Given the description of an element on the screen output the (x, y) to click on. 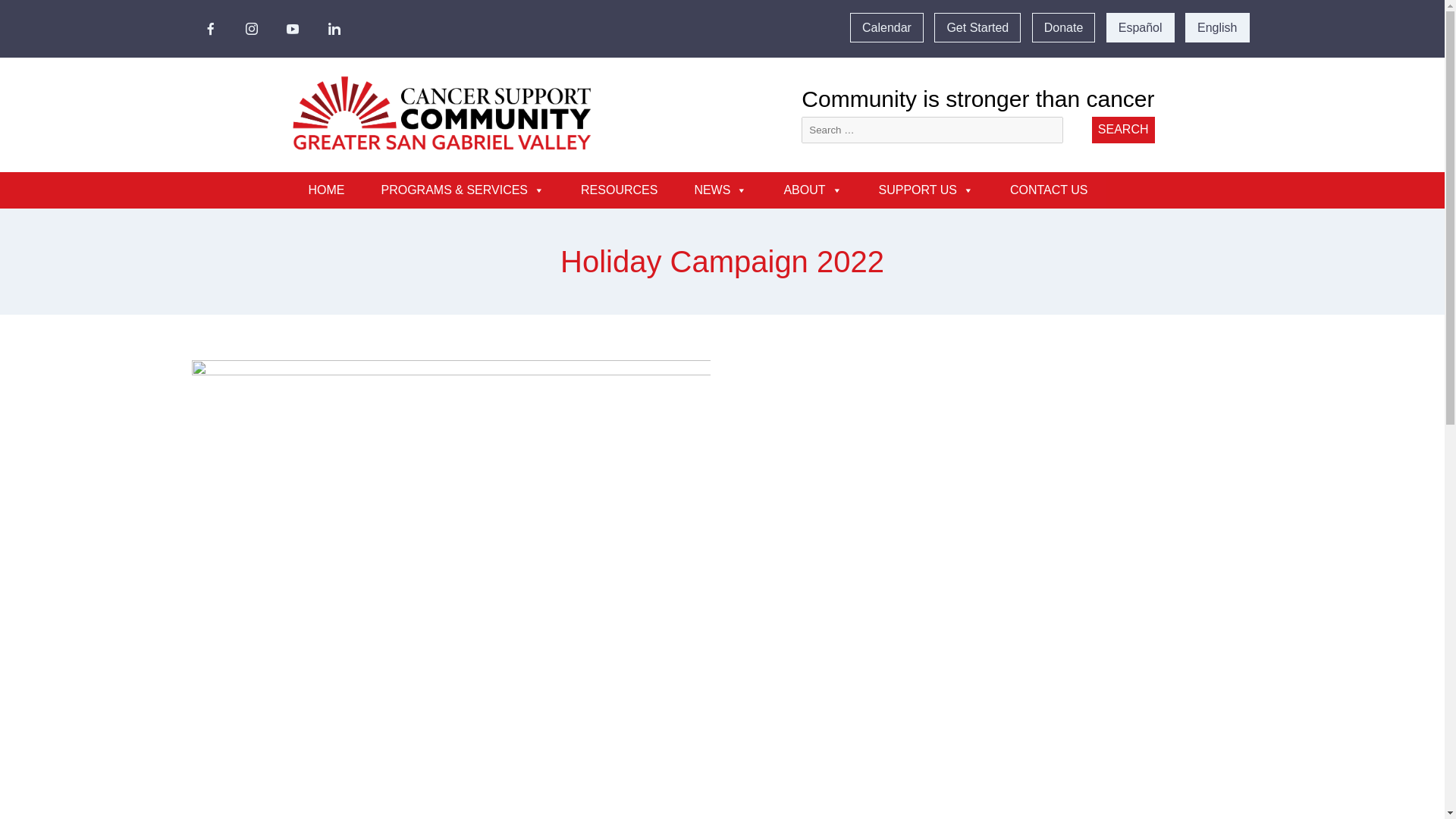
Calendar (886, 27)
Get Started (977, 27)
Search (1123, 130)
ABOUT (812, 189)
Search (1123, 130)
HOME (325, 189)
Search (1123, 130)
RESOURCES (618, 189)
English (1217, 27)
Donate (1064, 27)
NEWS (720, 189)
Cancer Support Community Greater San Gabriel Valley (437, 174)
